Given the description of an element on the screen output the (x, y) to click on. 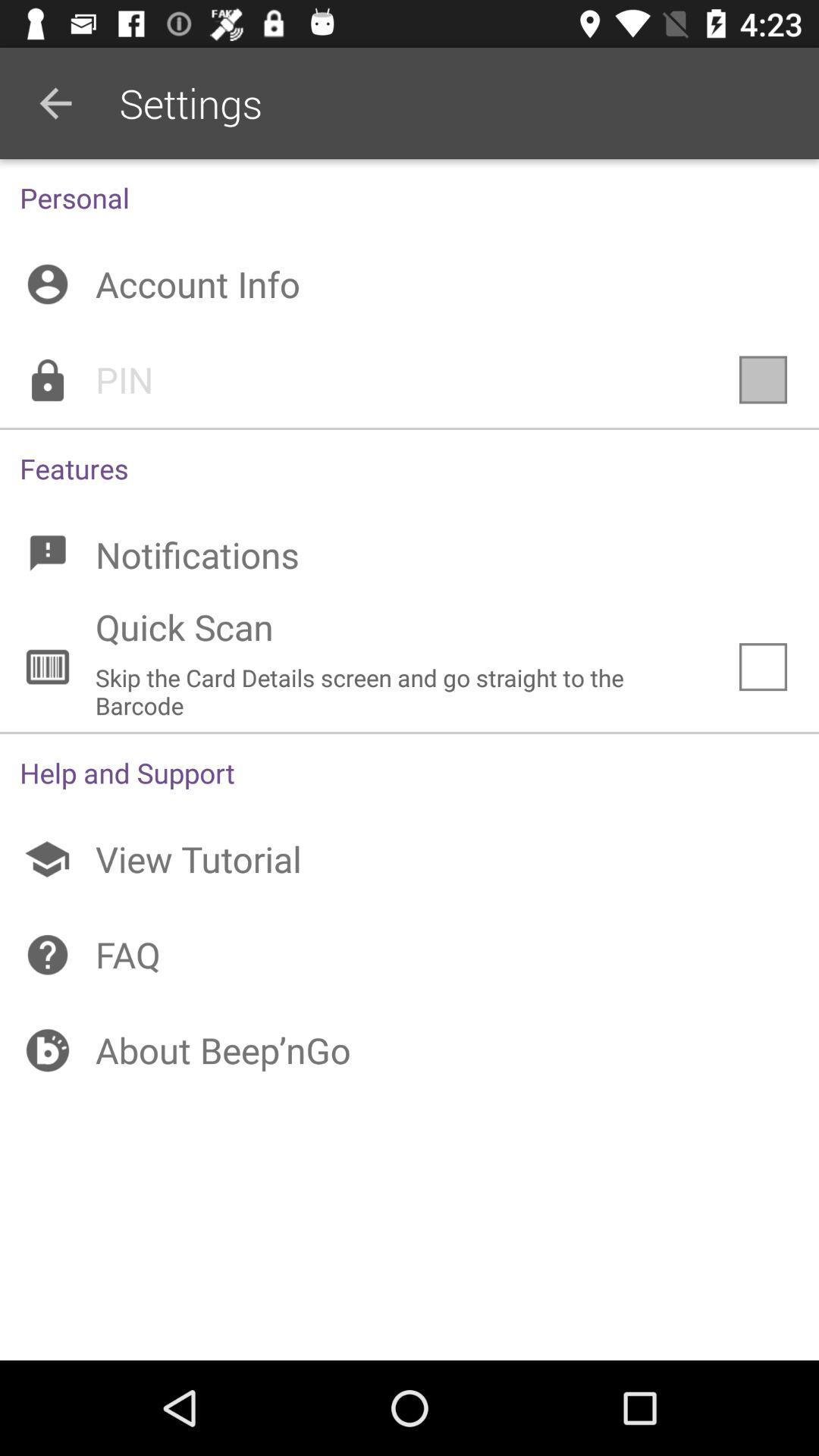
launch the item below the faq icon (409, 1050)
